Given the description of an element on the screen output the (x, y) to click on. 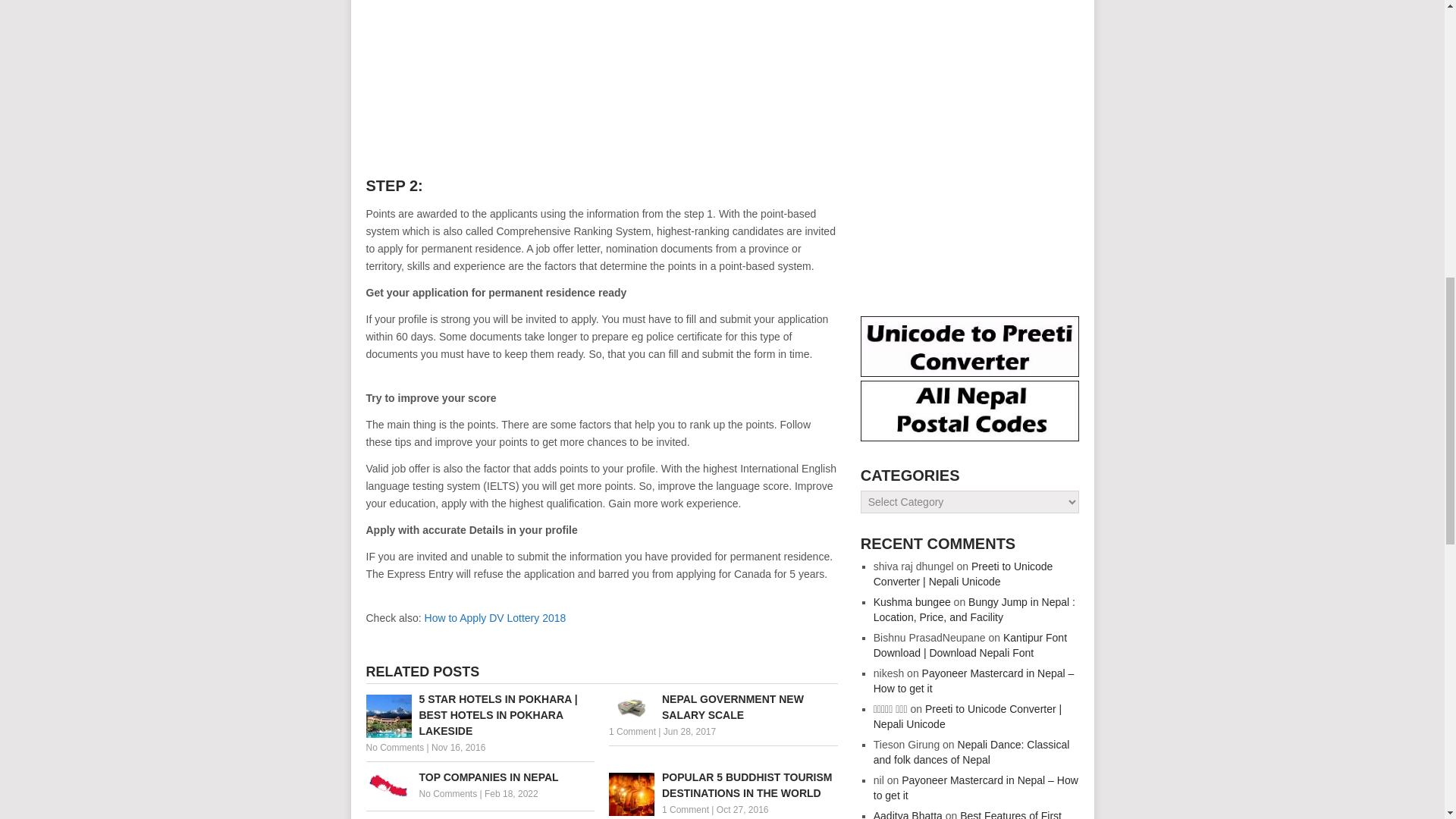
No Comments (448, 793)
NEPAL GOVERNMENT NEW SALARY SCALE (723, 707)
No Comments (394, 747)
Nepali Dance: Classical and folk dances of Nepal (971, 751)
Bungy Jump in Nepal : Location, Price, and Facility (974, 609)
Top Companies in Nepal (479, 777)
Aaditya Bhatta (907, 814)
Advertisement (492, 84)
Nepal Government New Salary Scale (723, 707)
Kushma bungee (911, 602)
